Given the description of an element on the screen output the (x, y) to click on. 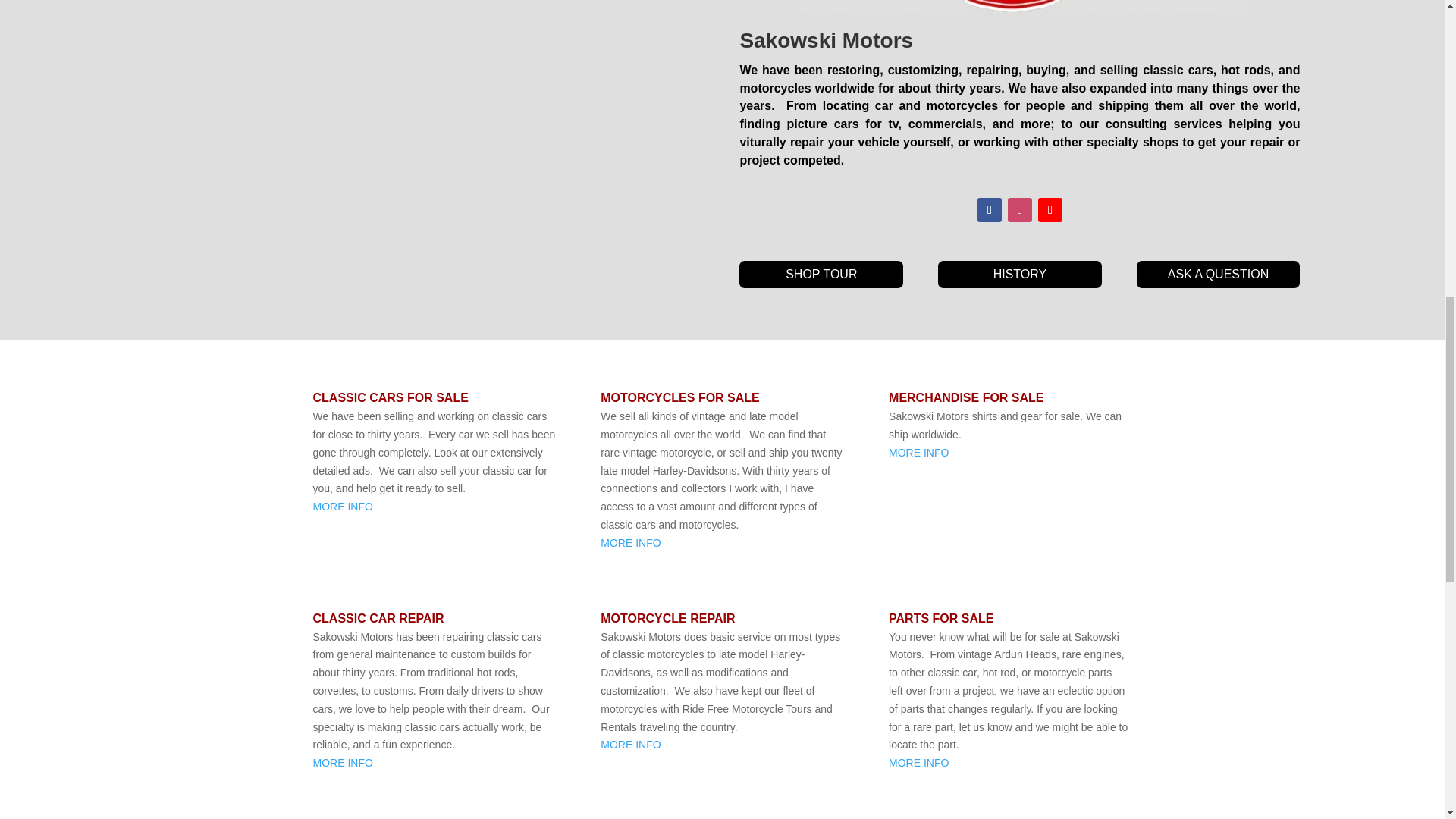
Follow on Instagram (1019, 209)
Sakowski Motors (1018, 7)
Follow on Youtube (1050, 209)
Follow on Facebook (988, 209)
